Given the description of an element on the screen output the (x, y) to click on. 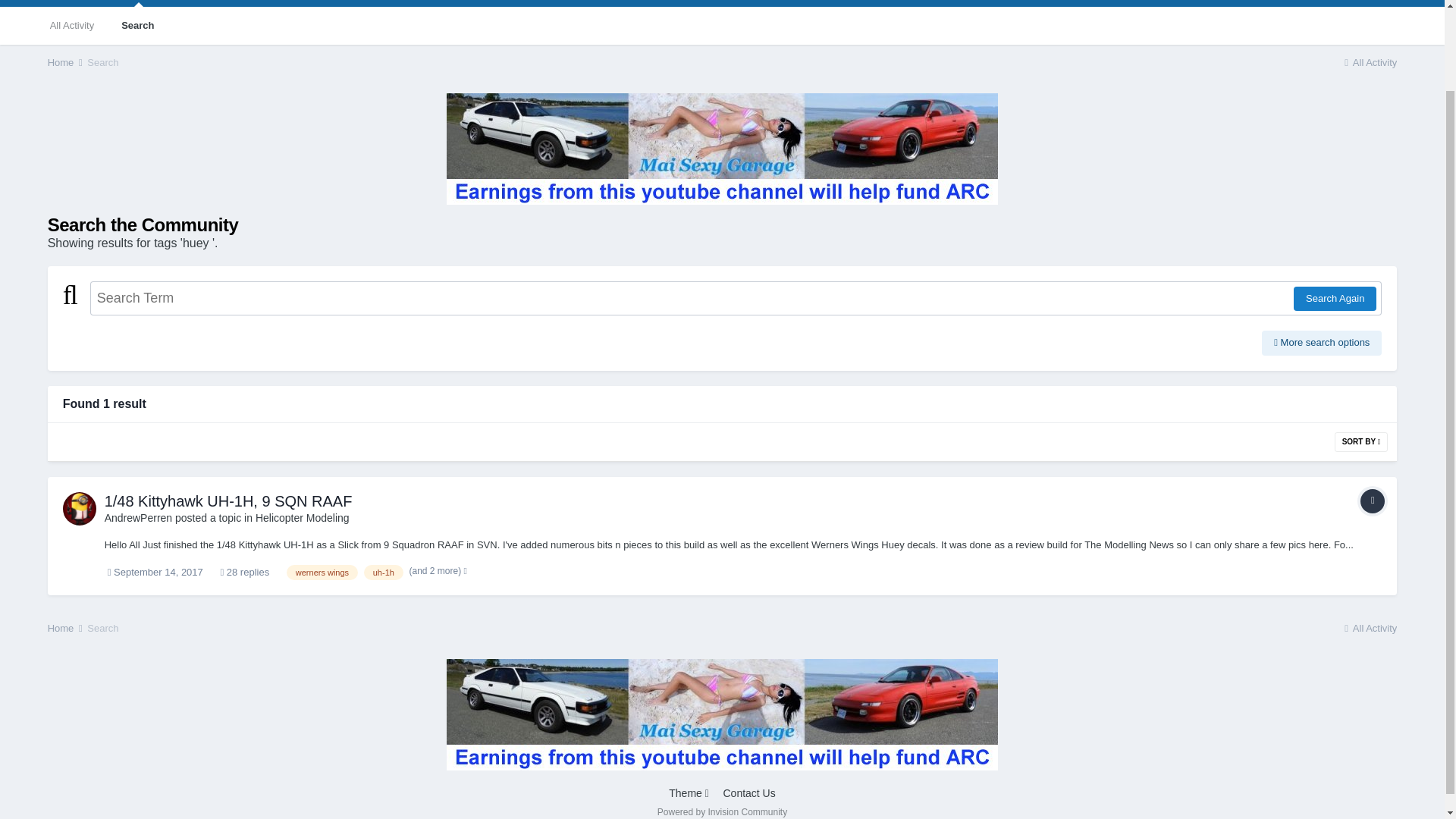
Home (66, 61)
All Activity (1369, 61)
Find other content tagged with 'uh-1h' (383, 572)
Find other content tagged with 'werners wings' (322, 572)
Go to AndrewPerren's profile (79, 508)
Home (66, 61)
Search (102, 61)
Activity (138, 3)
Topic (1371, 500)
Home (66, 627)
Search Again (1334, 298)
Search (137, 25)
All Activity (71, 25)
Browse (77, 3)
Go to AndrewPerren's profile (138, 517)
